Given the description of an element on the screen output the (x, y) to click on. 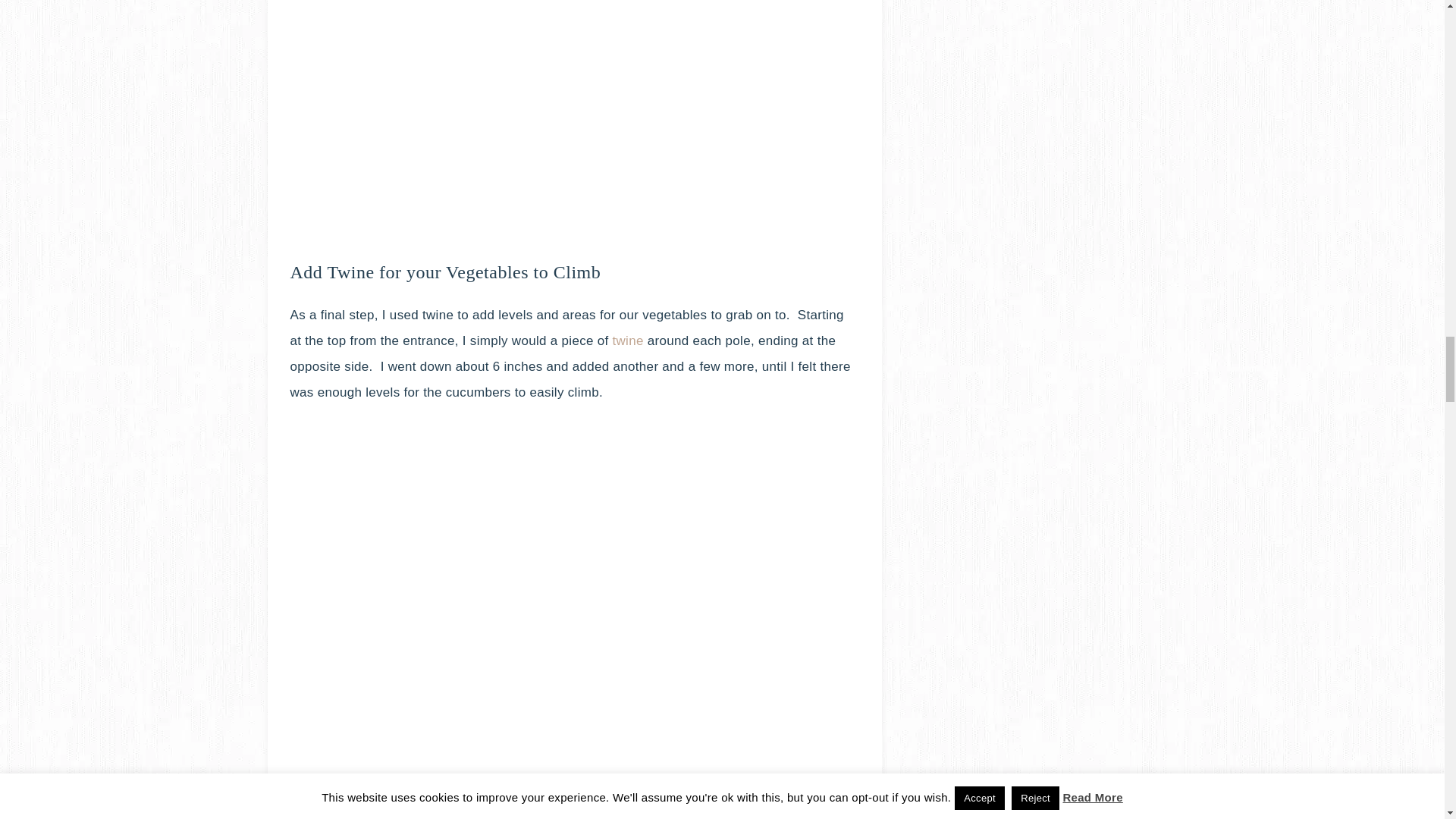
twine (627, 340)
